Given the description of an element on the screen output the (x, y) to click on. 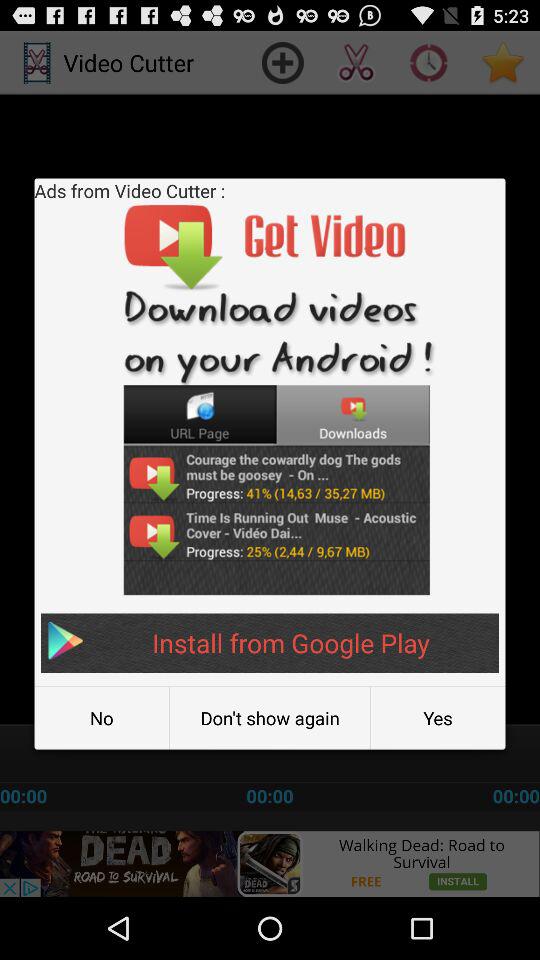
launch the item below the install from google icon (437, 717)
